Given the description of an element on the screen output the (x, y) to click on. 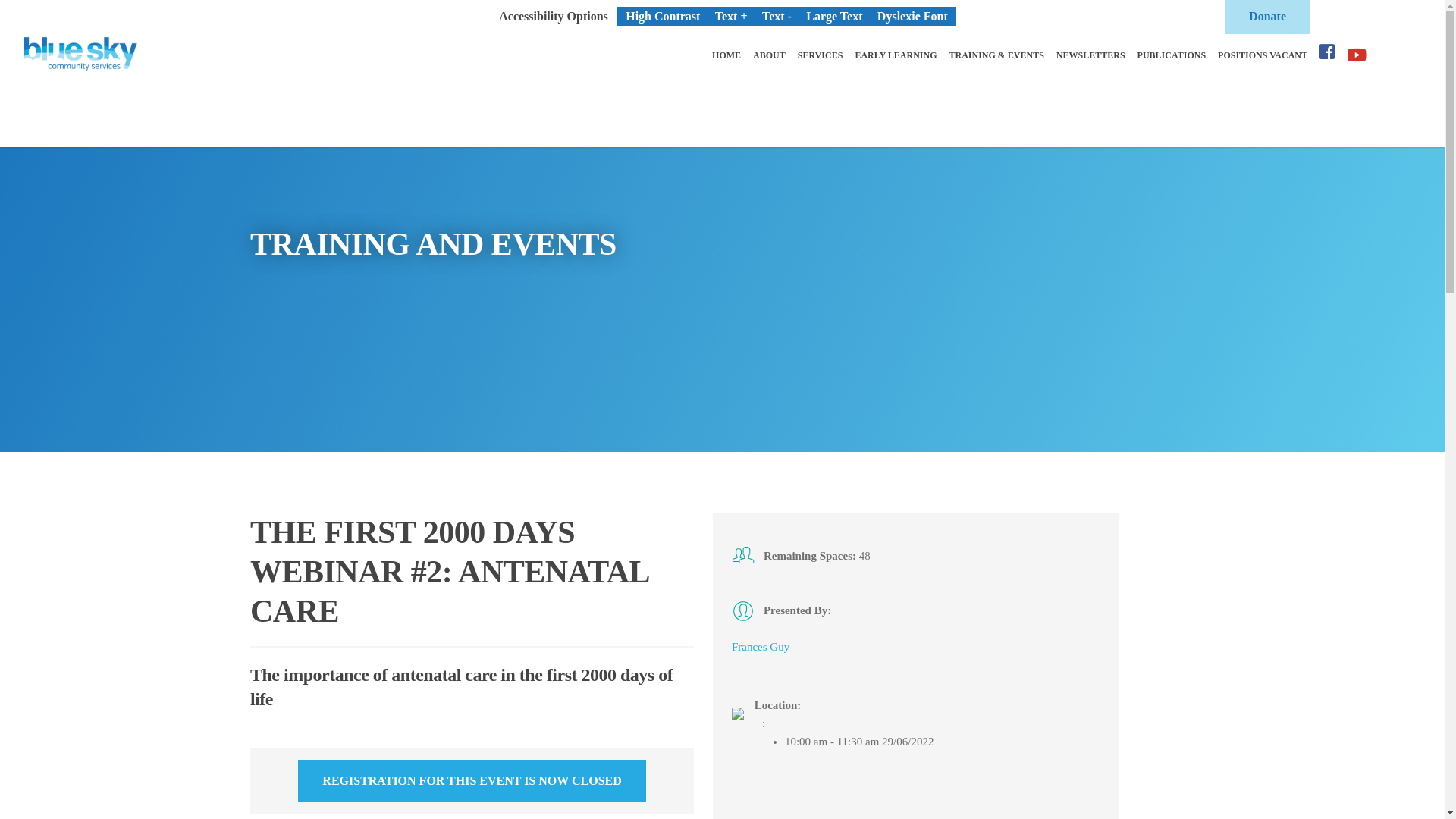
PUBLICATIONS Element type: text (1171, 55)
POSITIONS VACANT Element type: text (1262, 55)
Frances Guy Element type: text (760, 646)
REGISTRATION FOR THIS EVENT IS NOW CLOSED Element type: text (471, 780)
EARLY LEARNING Element type: text (895, 55)
Like Blue Sky Community Services on Facebook Element type: hover (1326, 54)
TRAINING & EVENTS Element type: text (996, 55)
Donate Element type: text (1267, 15)
NEWSLETTERS Element type: text (1090, 55)
HOME Element type: text (726, 55)
ABOUT Element type: text (768, 55)
SERVICES Element type: text (820, 55)
